Given the description of an element on the screen output the (x, y) to click on. 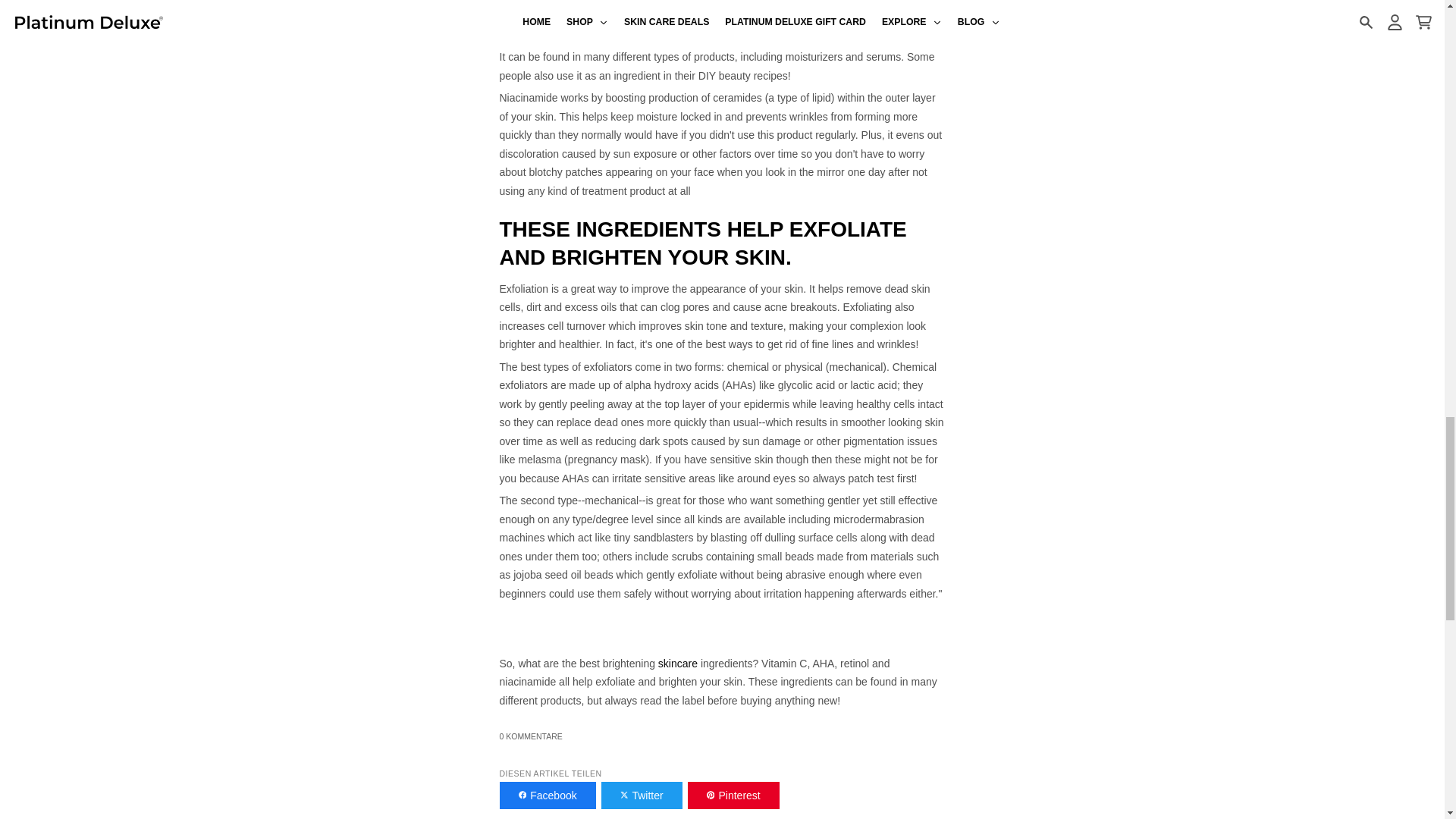
The Best Brightening Skincare Ingredients for Glowing Skin (677, 663)
